Given the description of an element on the screen output the (x, y) to click on. 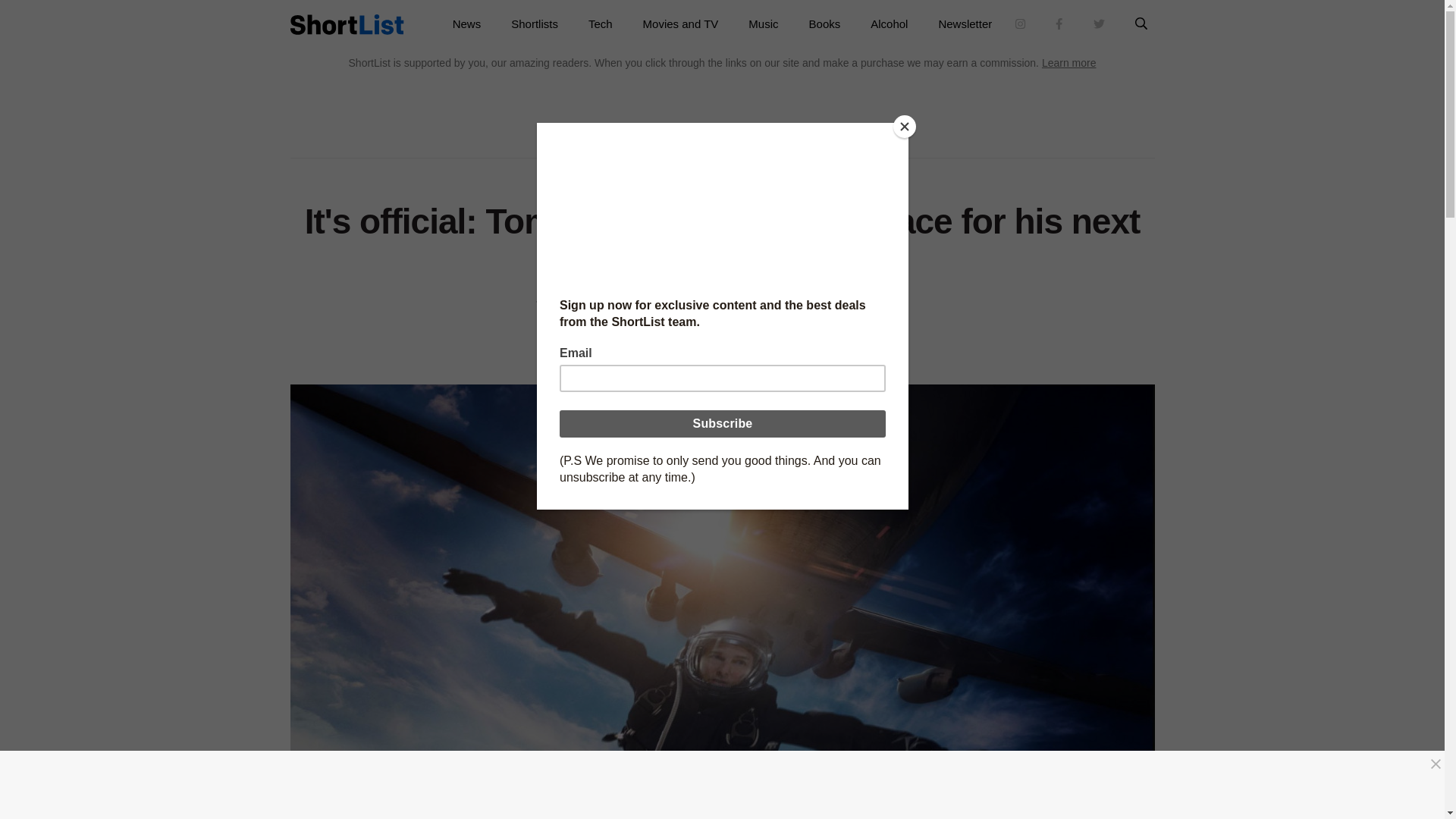
Visit :sitename on Twitter (1098, 24)
Tech (600, 23)
News (467, 23)
Facebook (701, 348)
Music (763, 23)
Twitter (742, 348)
HOME (704, 175)
Shortlists (534, 23)
Books (824, 23)
Shortlist (346, 24)
Visit :sitename on Instagram (1020, 24)
Learn more (1069, 62)
Newsletter (965, 23)
Movies and TV (680, 23)
